Given the description of an element on the screen output the (x, y) to click on. 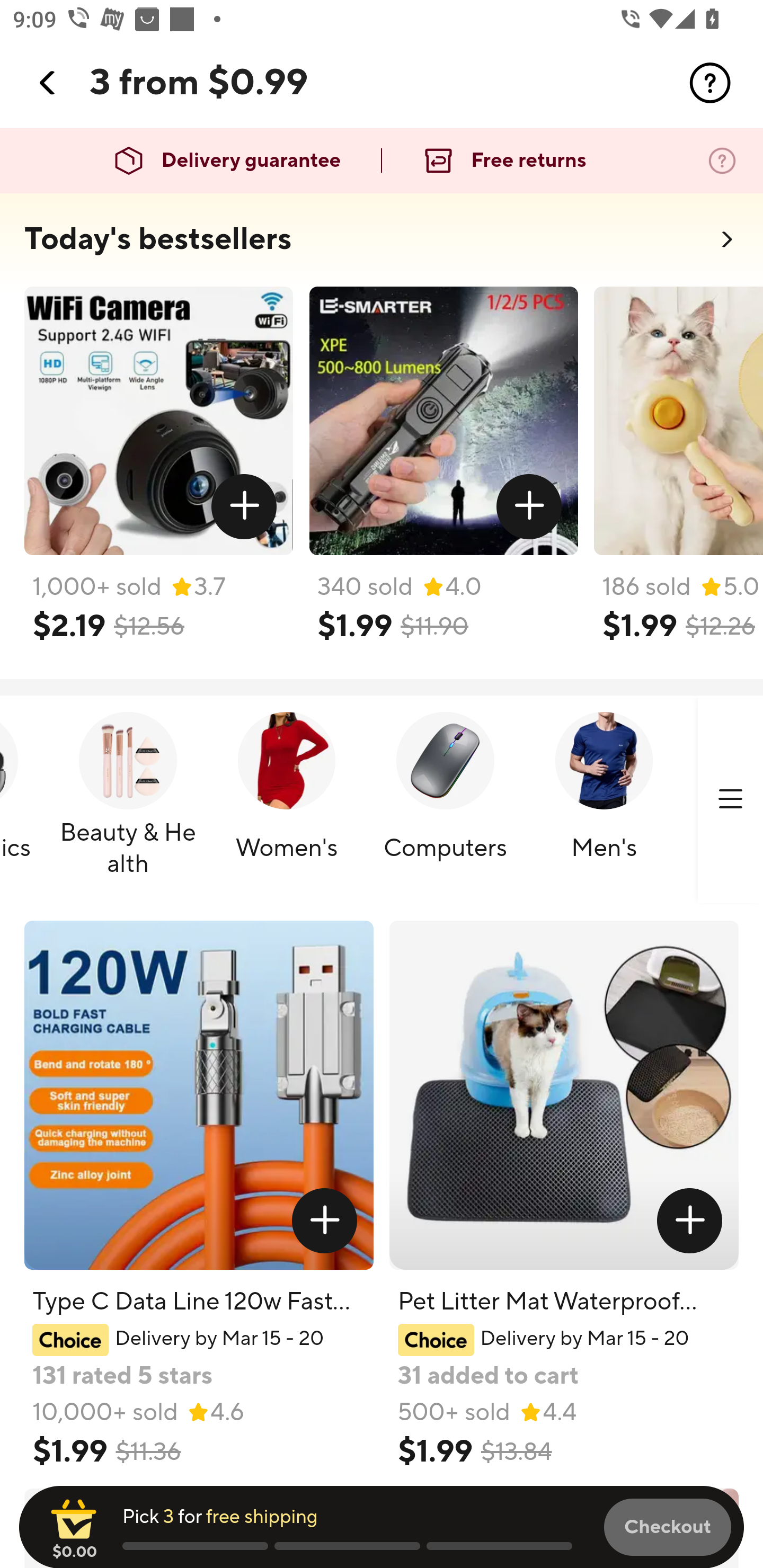
 (710, 82)
 (48, 82)
Today's bestsellers  Today's bestsellers  (381, 244)
Today's bestsellers (157, 239)
 (244, 506)
 (529, 506)
300x300.png_ Beauty & Health (127, 800)
200x200.png_ Women's (286, 800)
300x300.png_ Computers (444, 800)
200x200.png_ Men's (603, 800)
300x300.png_ Lights & Home Improvement (727, 800)
 (323, 1220)
 (689, 1220)
